Given the description of an element on the screen output the (x, y) to click on. 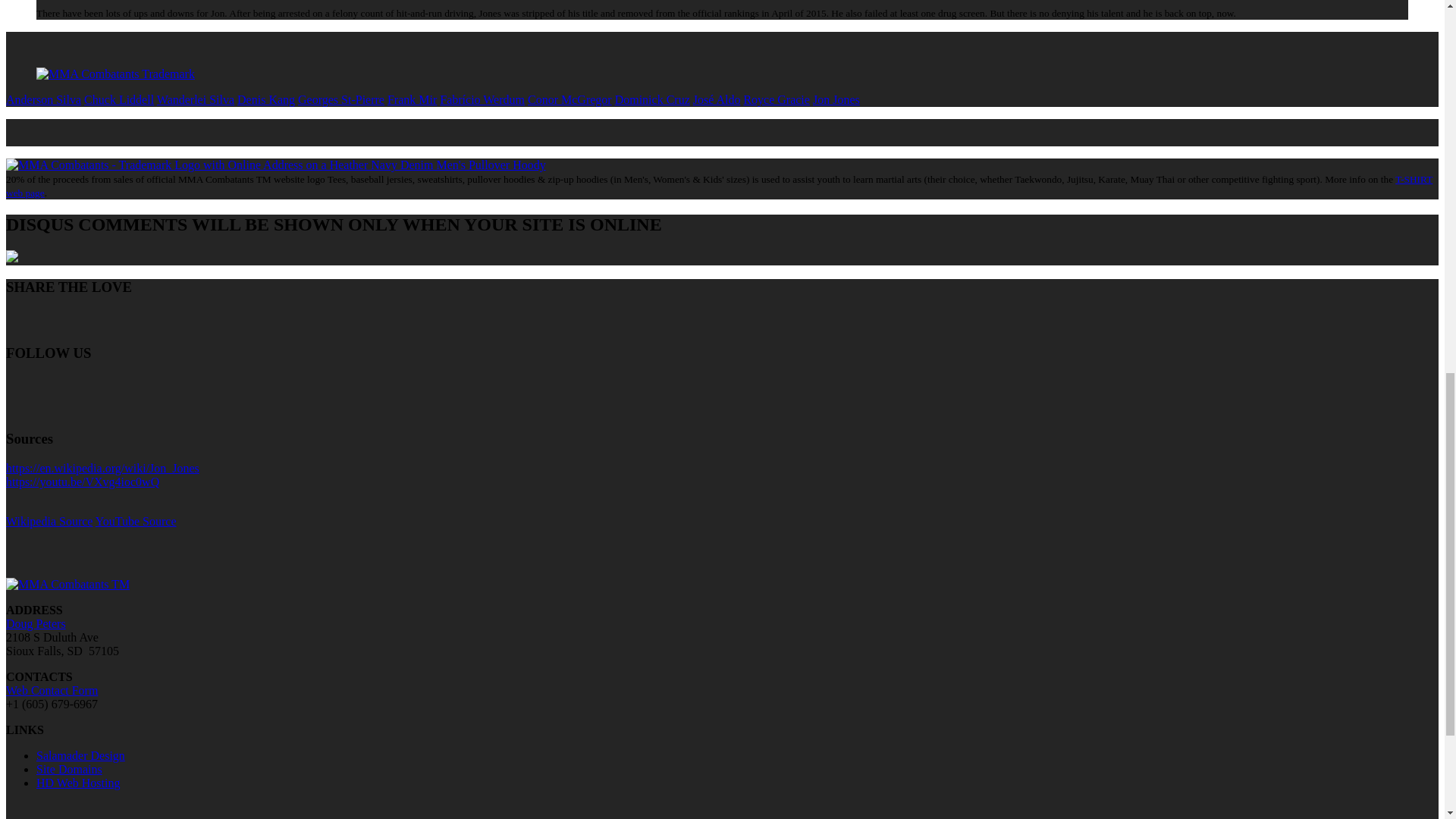
Conor McGregor (569, 99)
HD Web Hosting (77, 782)
Chuck Liddell (119, 99)
Web Contact Form (51, 689)
YouTube Source (136, 521)
Royce Gracie (775, 99)
MMACombatants.com Website 1st Page (67, 584)
Wikipedia Source (49, 521)
Denis Kang (266, 99)
Jon Jones (836, 99)
Site Domains (68, 768)
Doug Peters (35, 623)
MMA Combatants Home Page (115, 74)
Frank Mir (411, 99)
Wanderlei Silva (195, 99)
